Given the description of an element on the screen output the (x, y) to click on. 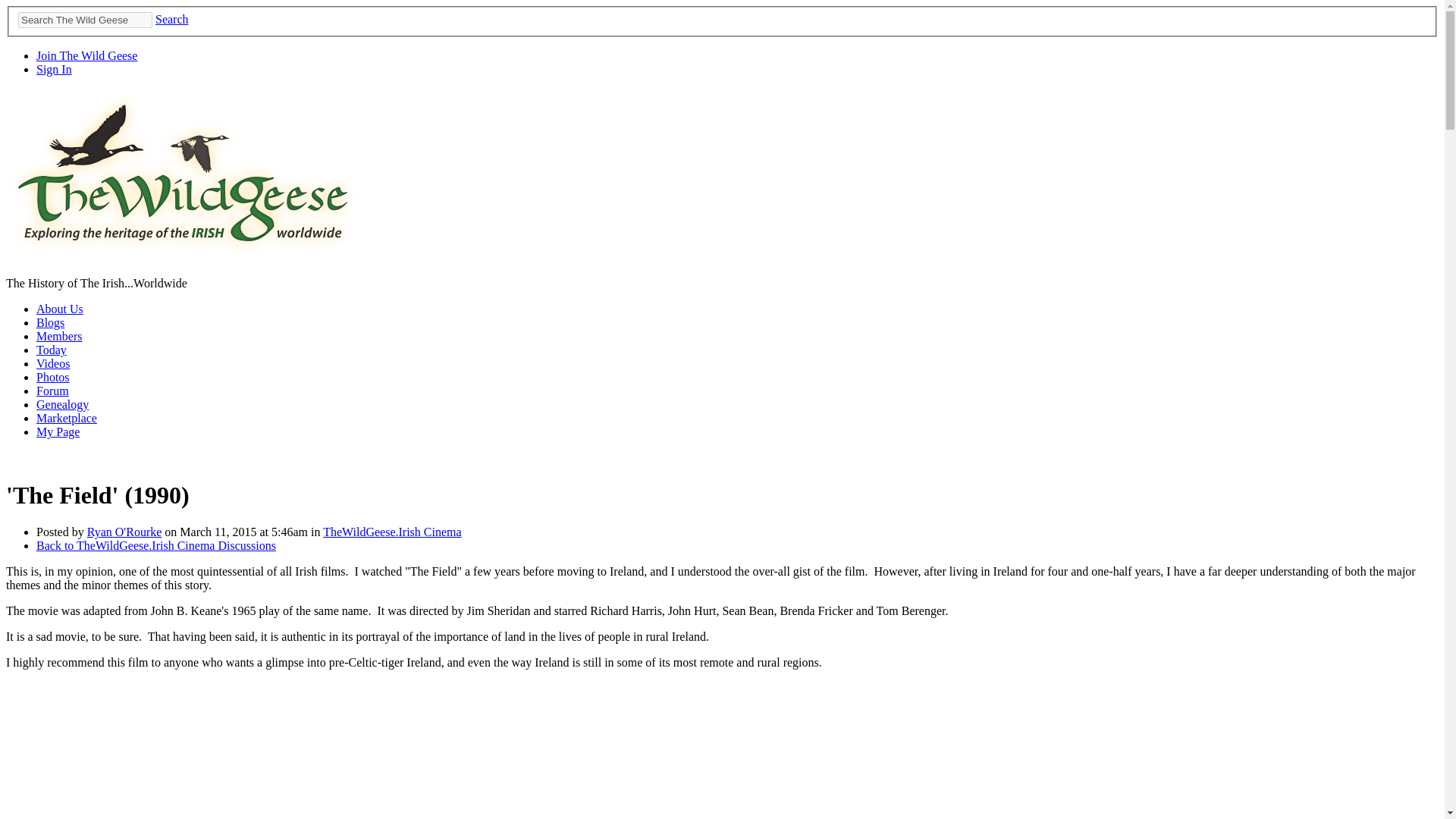
Posted by (61, 531)
Today (51, 349)
Blogs (50, 322)
Marketplace (66, 418)
Sign In (53, 69)
Join The Wild Geese (86, 55)
Search (172, 19)
Photos (52, 377)
About Us (59, 308)
Search The Wild Geese (84, 19)
Videos (52, 363)
Forum (52, 390)
Genealogy (62, 404)
My Page (58, 431)
Members (58, 336)
